Given the description of an element on the screen output the (x, y) to click on. 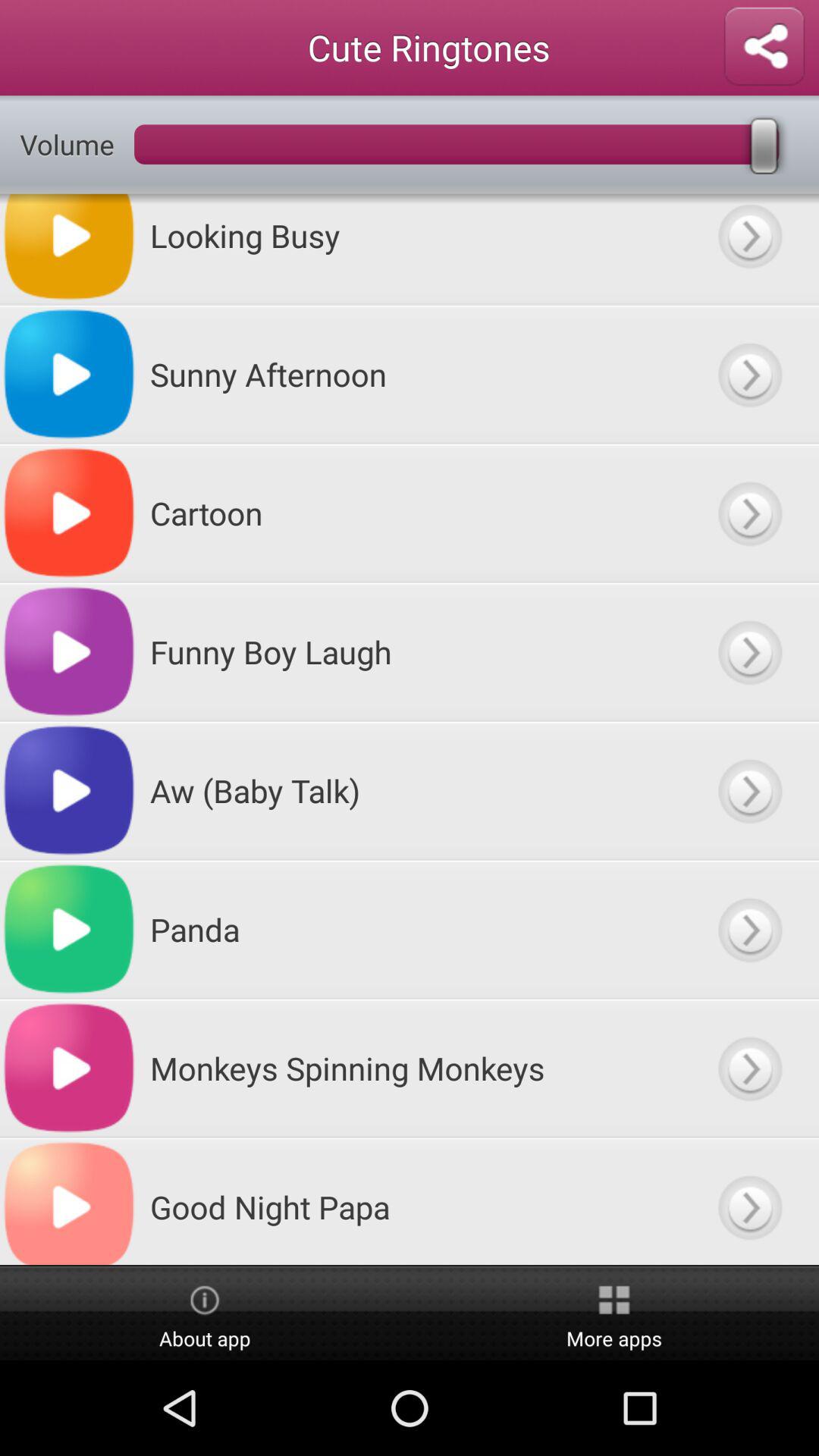
next button (749, 1068)
